Given the description of an element on the screen output the (x, y) to click on. 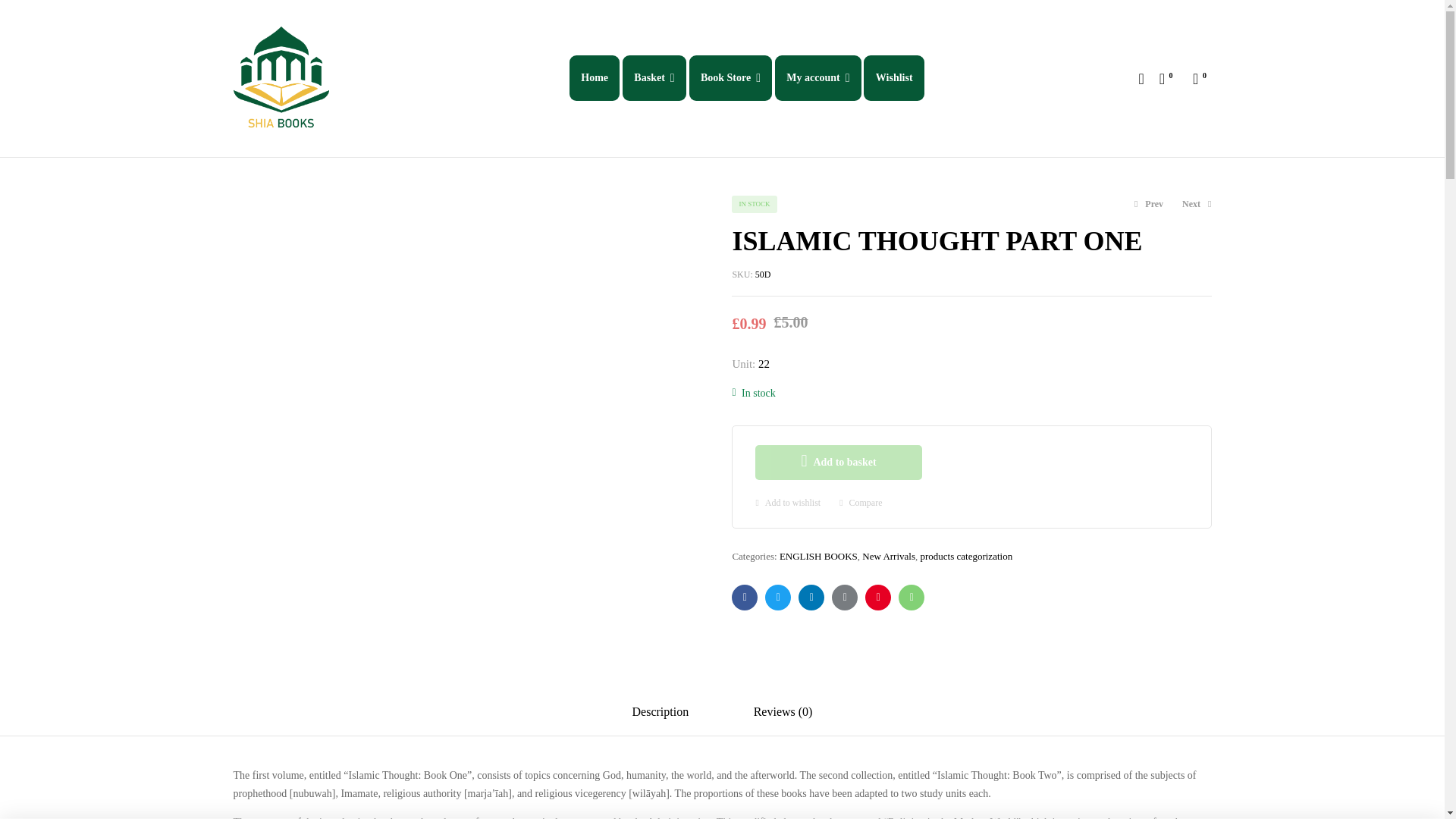
Book Store (730, 77)
New Arrivals (888, 555)
Next (1196, 204)
Share on facebook (744, 597)
Email to a Friend (911, 597)
View your shopping cart (1199, 77)
Share on Pinterest (877, 597)
0 (1199, 77)
products categorization (965, 555)
Linkedin (810, 597)
